Given the description of an element on the screen output the (x, y) to click on. 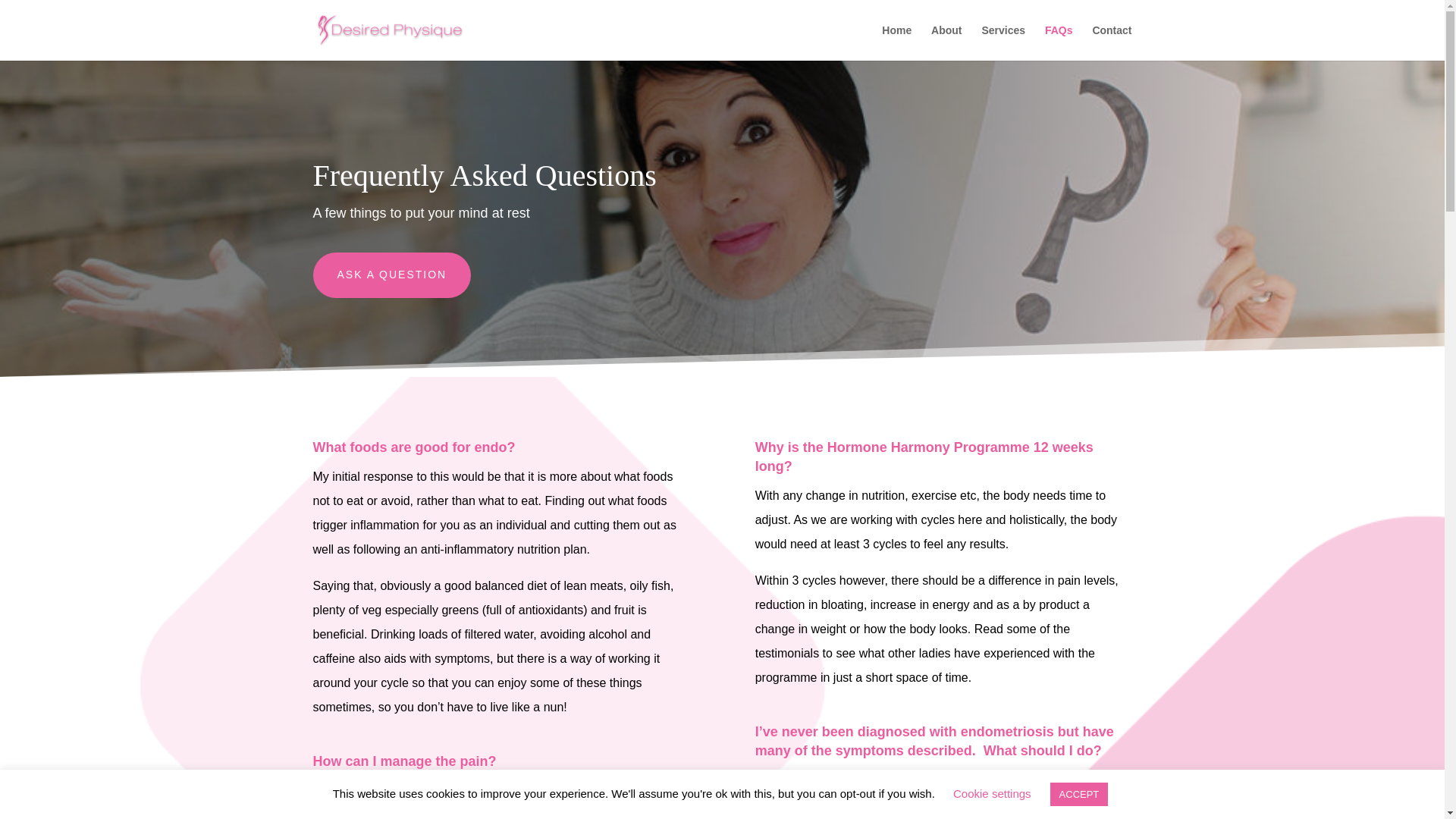
ACCEPT (1078, 793)
ASK A QUESTION (391, 275)
Contact (1111, 42)
Services (1003, 42)
Cookie settings (991, 793)
